Given the description of an element on the screen output the (x, y) to click on. 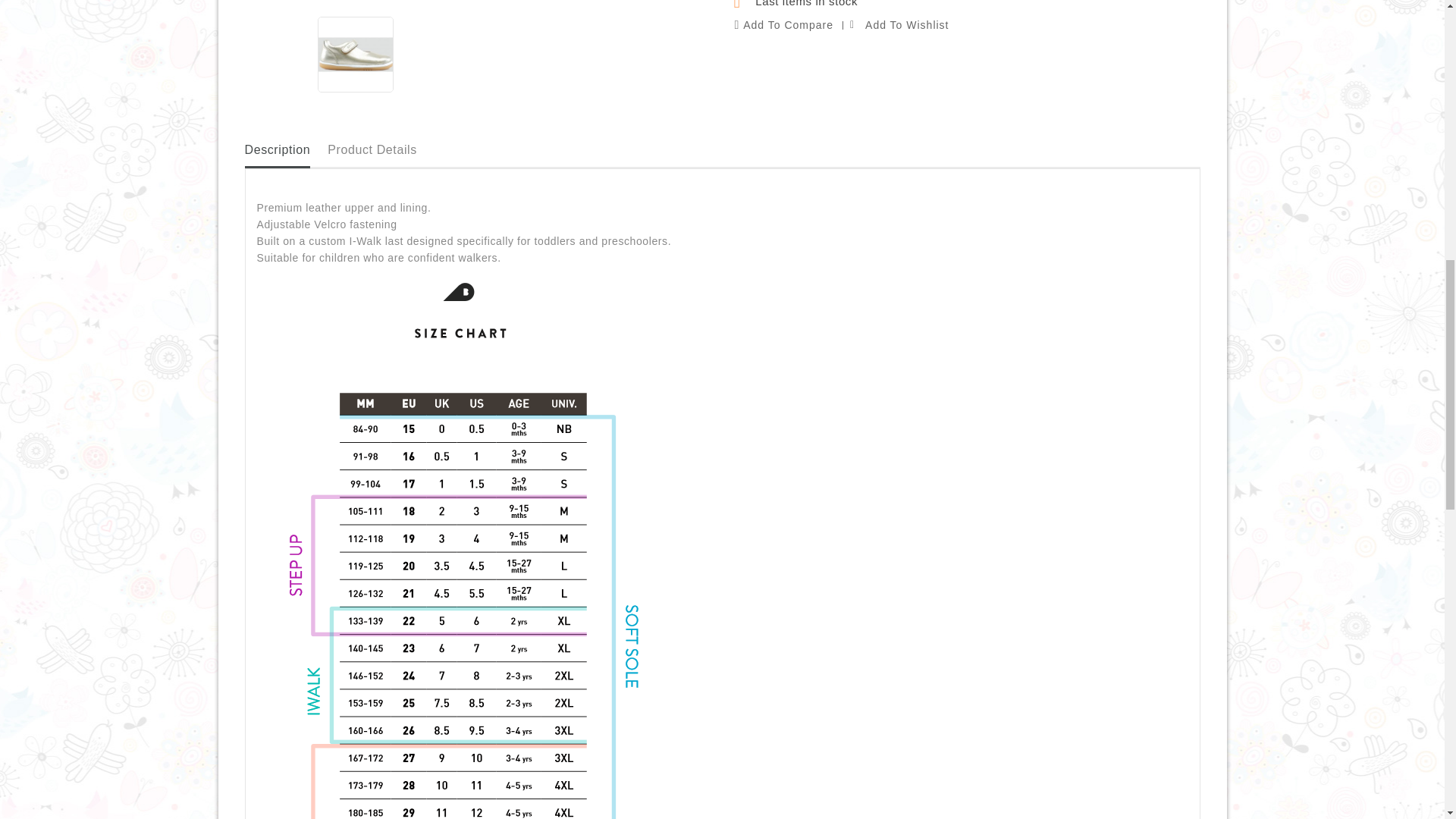
Add to wishlist (895, 25)
Add to Compare (783, 25)
Bobux I Walk Molten Gold Mary Jane (355, 54)
